Given the description of an element on the screen output the (x, y) to click on. 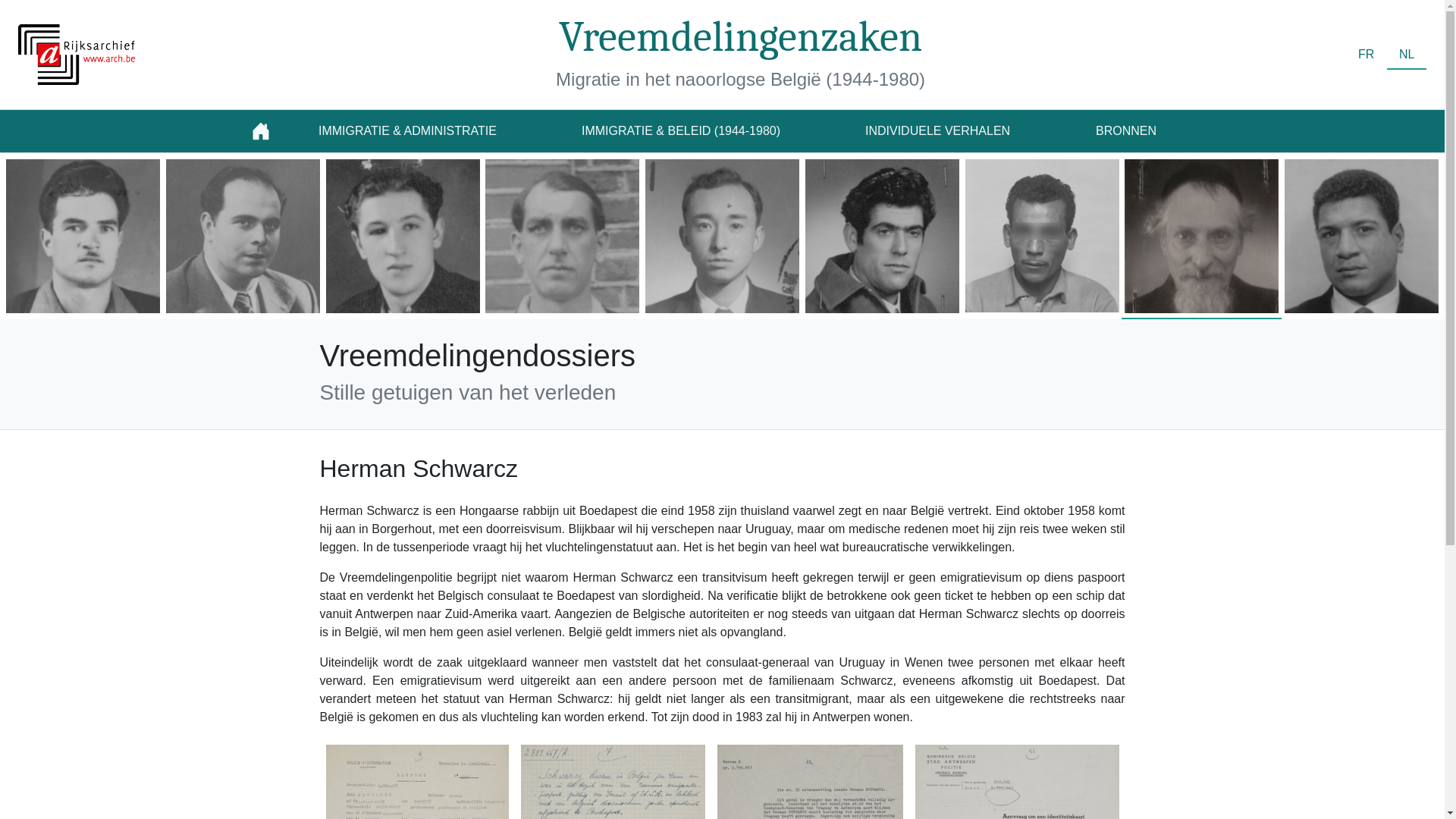
NL Element type: text (1406, 54)
IMMIGRATIE & ADMINISTRATIE Element type: text (407, 131)
INDIVIDUELE VERHALEN Element type: text (937, 131)
Vreemdelingenzaken Element type: text (740, 36)
FR Element type: text (1366, 54)
IMMIGRATIE & BELEID (1944-1980) Element type: text (680, 131)
BRONNEN Element type: text (1125, 131)
